Given the description of an element on the screen output the (x, y) to click on. 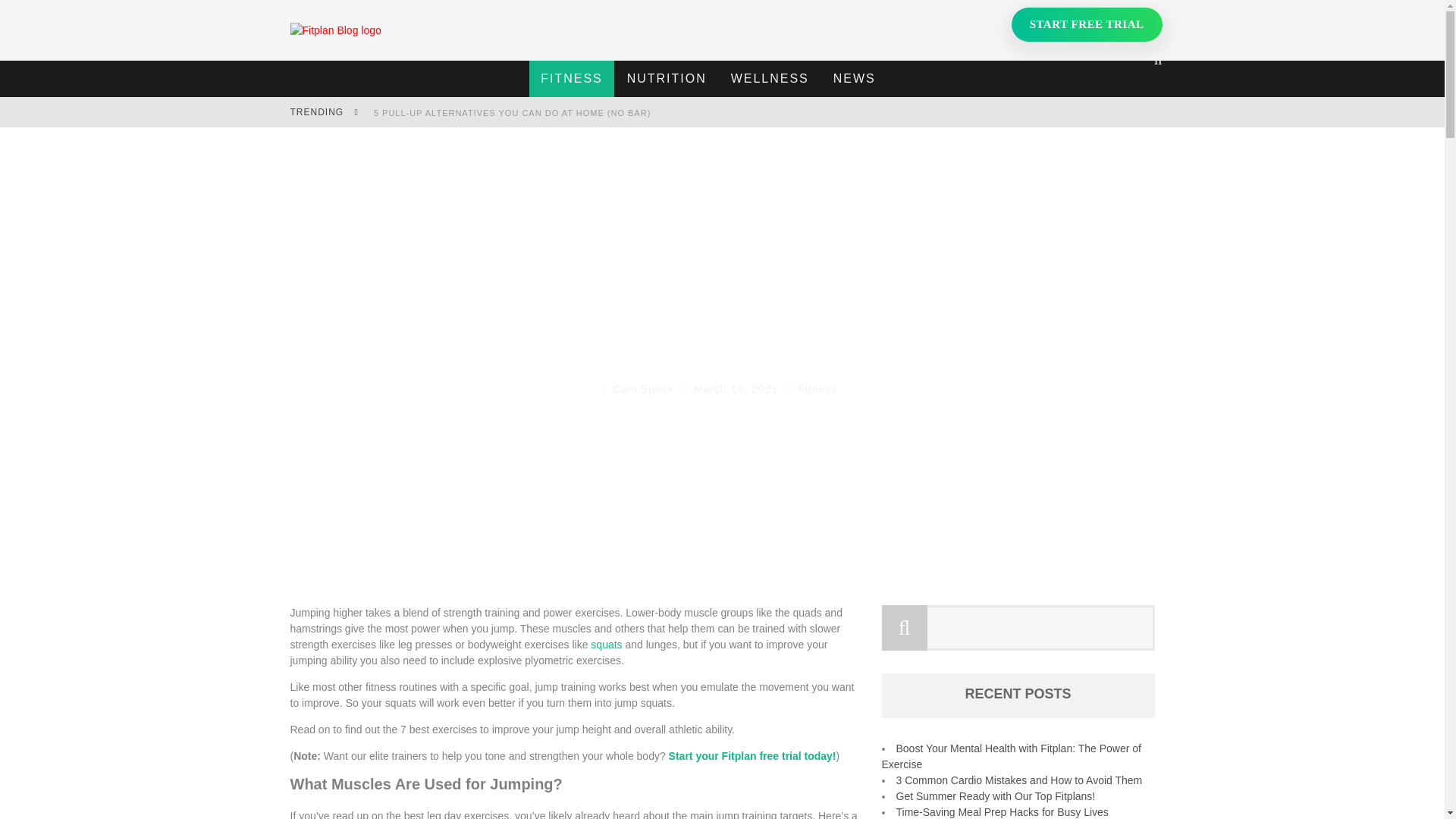
NUTRITION (666, 78)
View all posts in Fitness (817, 388)
FITNESS (571, 78)
START FREE TRIAL (1086, 24)
START FREE TRIAL (1086, 24)
